Given the description of an element on the screen output the (x, y) to click on. 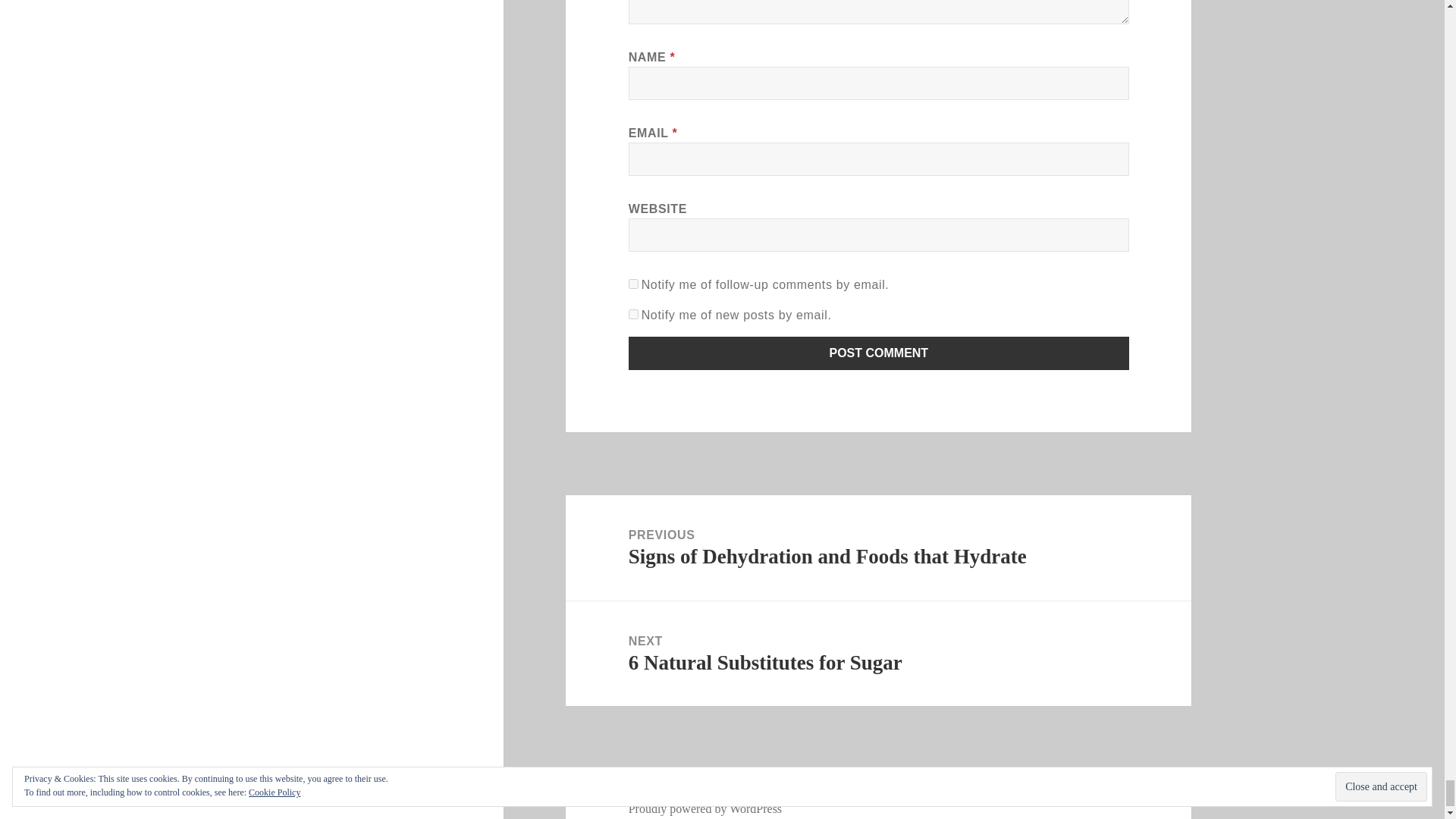
subscribe (633, 284)
subscribe (633, 314)
Post Comment (878, 353)
